Given the description of an element on the screen output the (x, y) to click on. 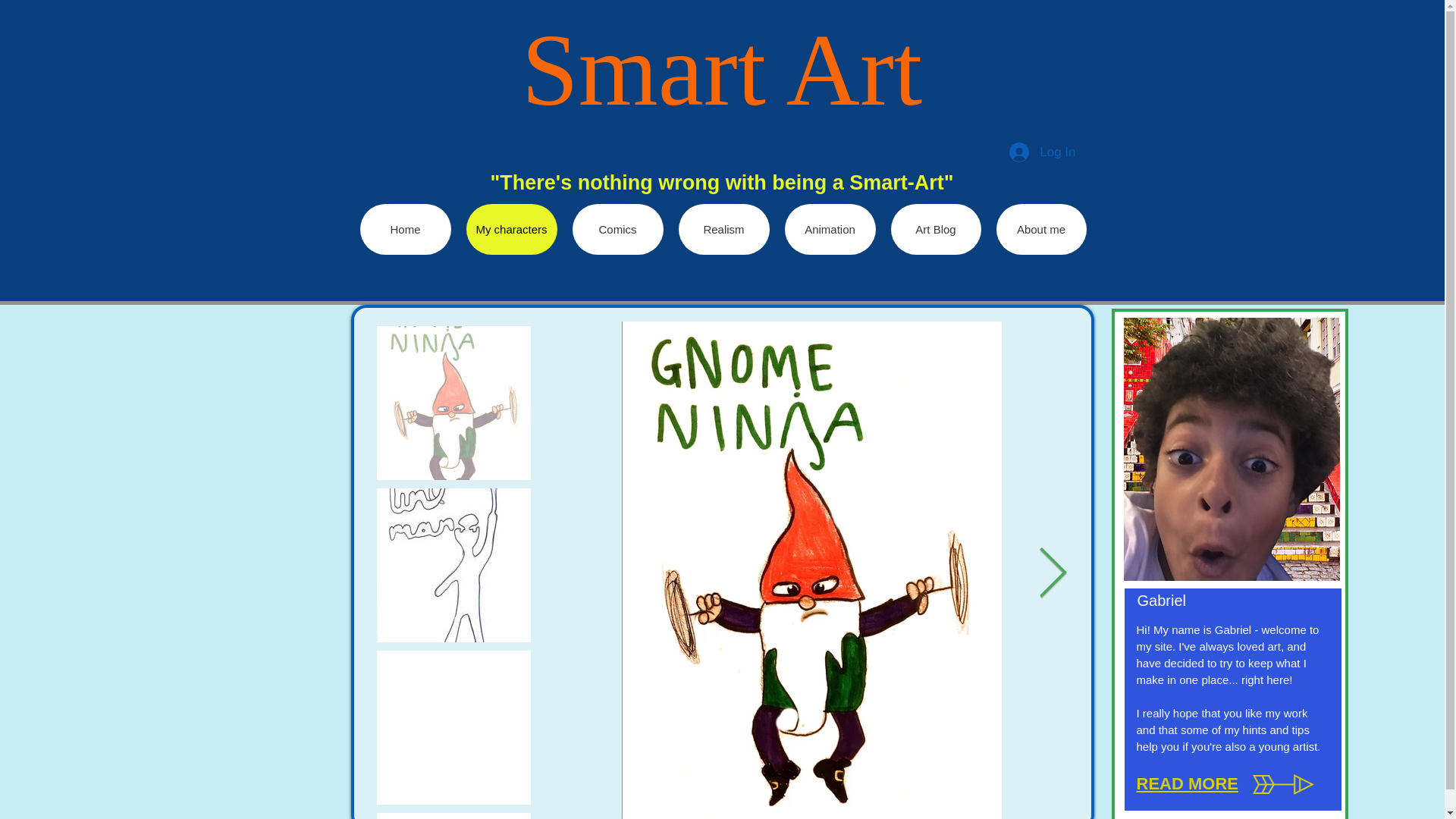
Realism (723, 228)
READ MORE (1186, 783)
Log In (1042, 152)
Comics (617, 228)
Art Blog (934, 228)
About me (1040, 228)
My characters (510, 228)
Smart Art (722, 69)
Animation (829, 228)
Home (404, 228)
